Given the description of an element on the screen output the (x, y) to click on. 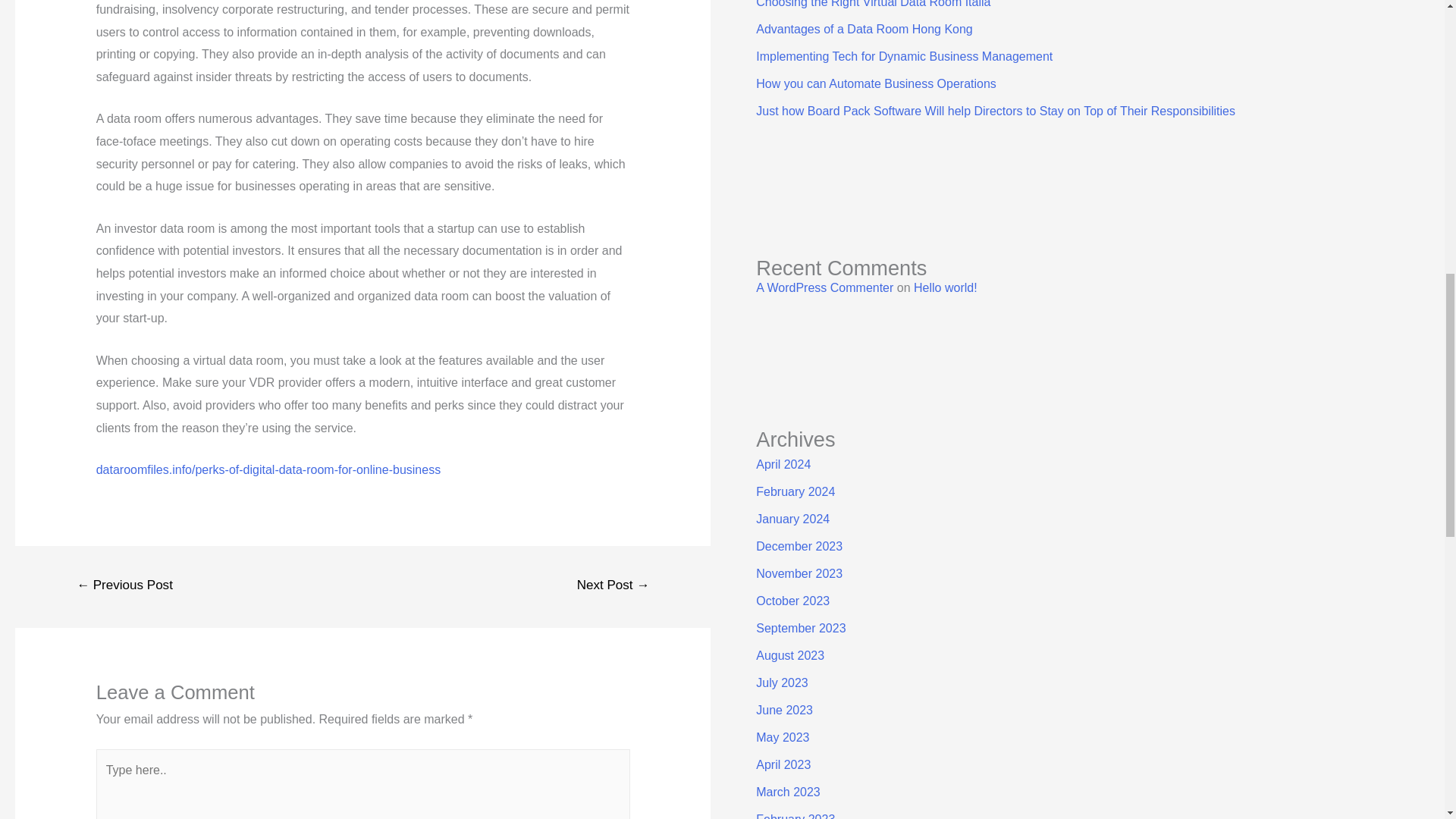
Implementing Tech for Dynamic Business Management (903, 56)
Advantages of a Data Room Hong Kong (863, 29)
Choosing the Right Virtual Data Room Italia (872, 4)
